Given the description of an element on the screen output the (x, y) to click on. 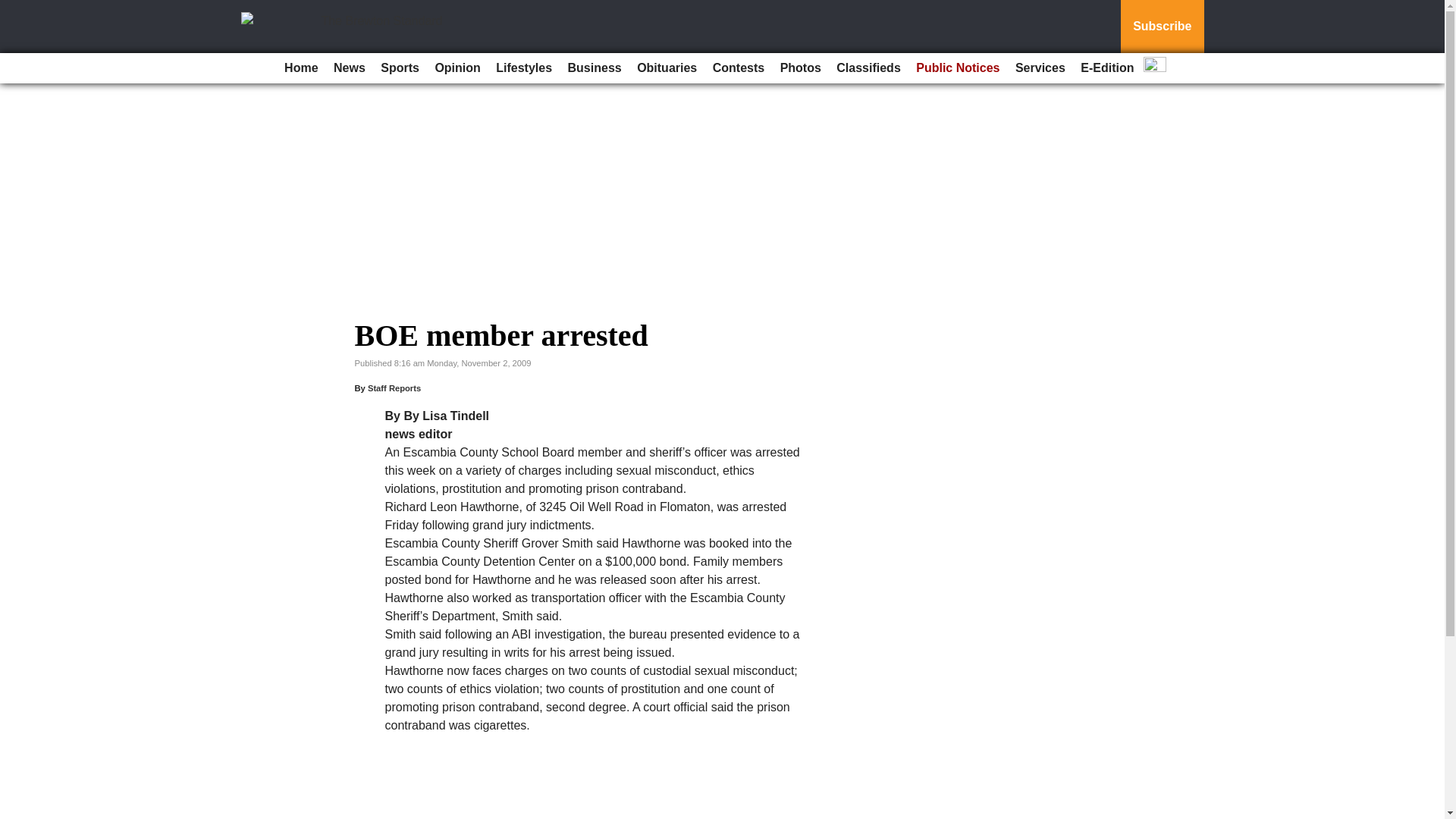
Staff Reports (394, 388)
Services (1040, 68)
Obituaries (666, 68)
Subscribe (1162, 26)
News (349, 68)
Public Notices (958, 68)
Classifieds (867, 68)
Sports (399, 68)
Business (594, 68)
E-Edition (1107, 68)
